Given the description of an element on the screen output the (x, y) to click on. 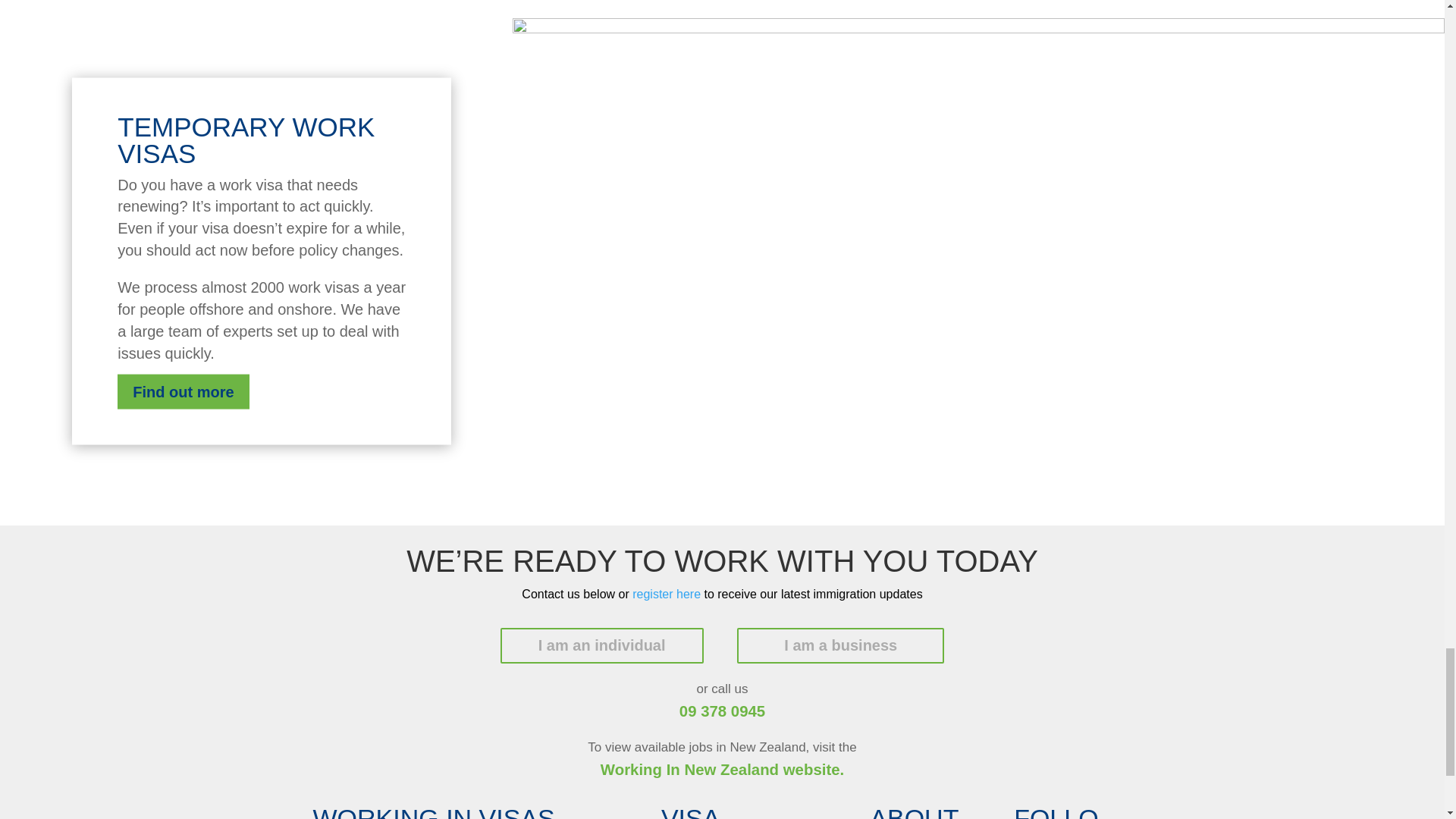
I am an individual (601, 645)
register here (665, 594)
I am a business (839, 645)
09 378 0945 (722, 710)
Find out more (182, 391)
Working In New Zealand website. (721, 769)
I am a business (840, 646)
